Given the description of an element on the screen output the (x, y) to click on. 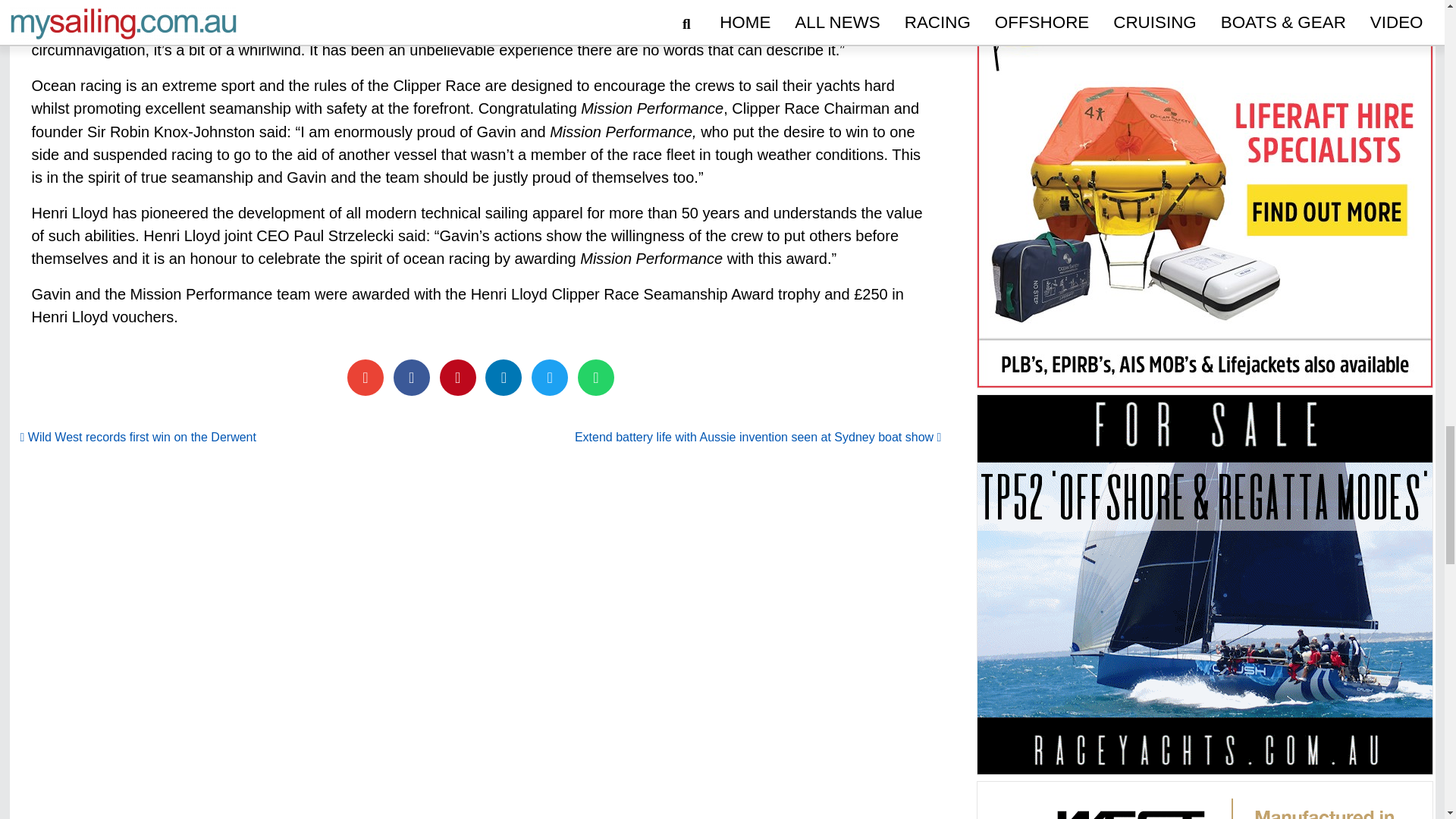
 Wild West records first win on the Derwent (138, 436)
Share by Email (365, 377)
